Given the description of an element on the screen output the (x, y) to click on. 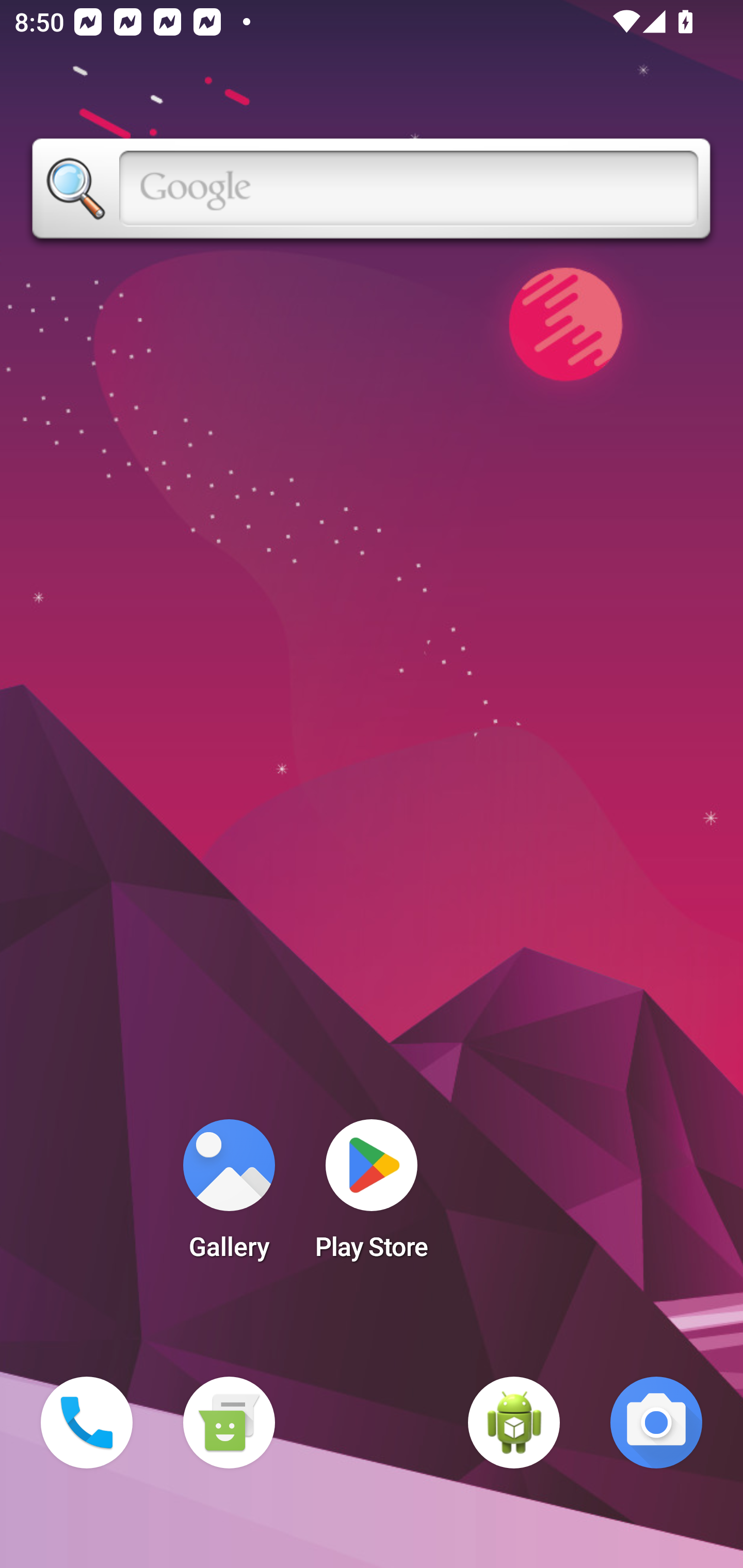
Gallery (228, 1195)
Play Store (371, 1195)
Phone (86, 1422)
Messaging (228, 1422)
WebView Browser Tester (513, 1422)
Camera (656, 1422)
